Given the description of an element on the screen output the (x, y) to click on. 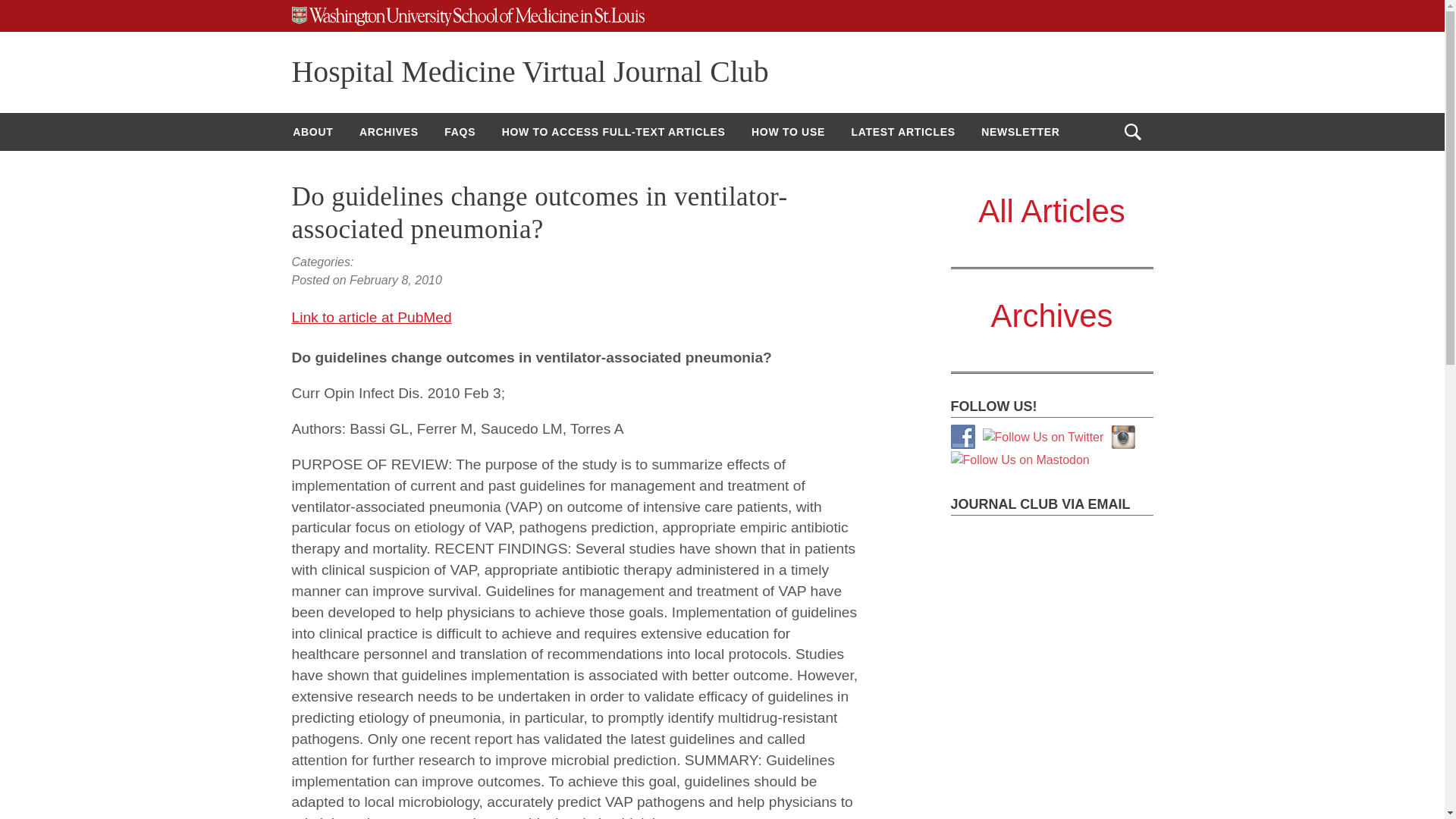
LATEST ARTICLES (903, 131)
Hospital Medicine Virtual Journal Club (529, 71)
Open Search (1132, 132)
NEWSLETTER (1019, 131)
HOW TO USE (787, 131)
Archives (1051, 315)
Follow Us on Twitter (1042, 436)
Follow Us on Facebook (962, 436)
ARCHIVES (388, 131)
